Given the description of an element on the screen output the (x, y) to click on. 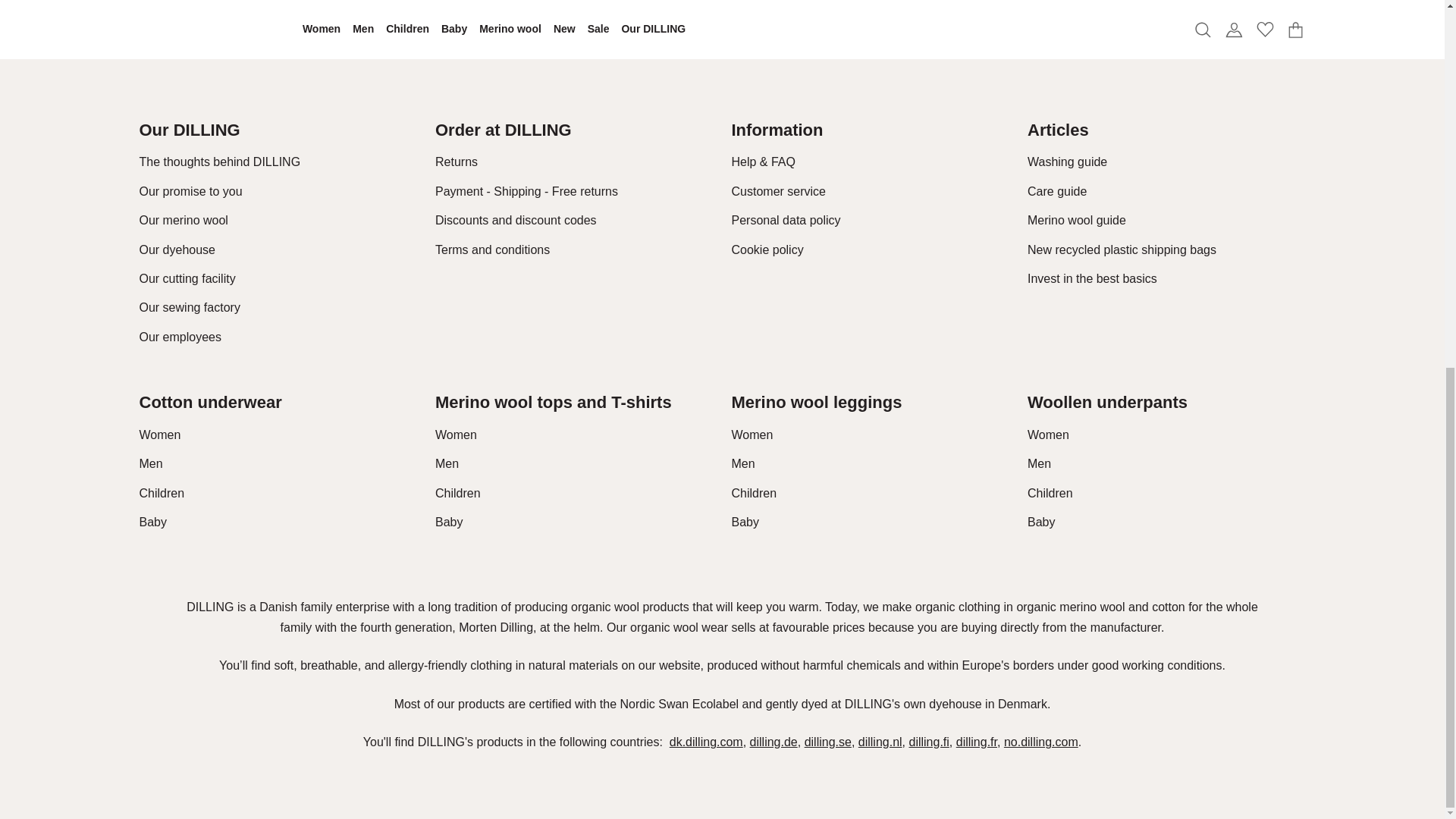
The thoughts behind DILLING (220, 161)
Our employees (180, 336)
Returns (456, 161)
Our dyehouse (177, 249)
Our merino wool (183, 219)
Our sewing factory (189, 307)
Our cutting facility (187, 278)
Our promise to you (191, 191)
